Given the description of an element on the screen output the (x, y) to click on. 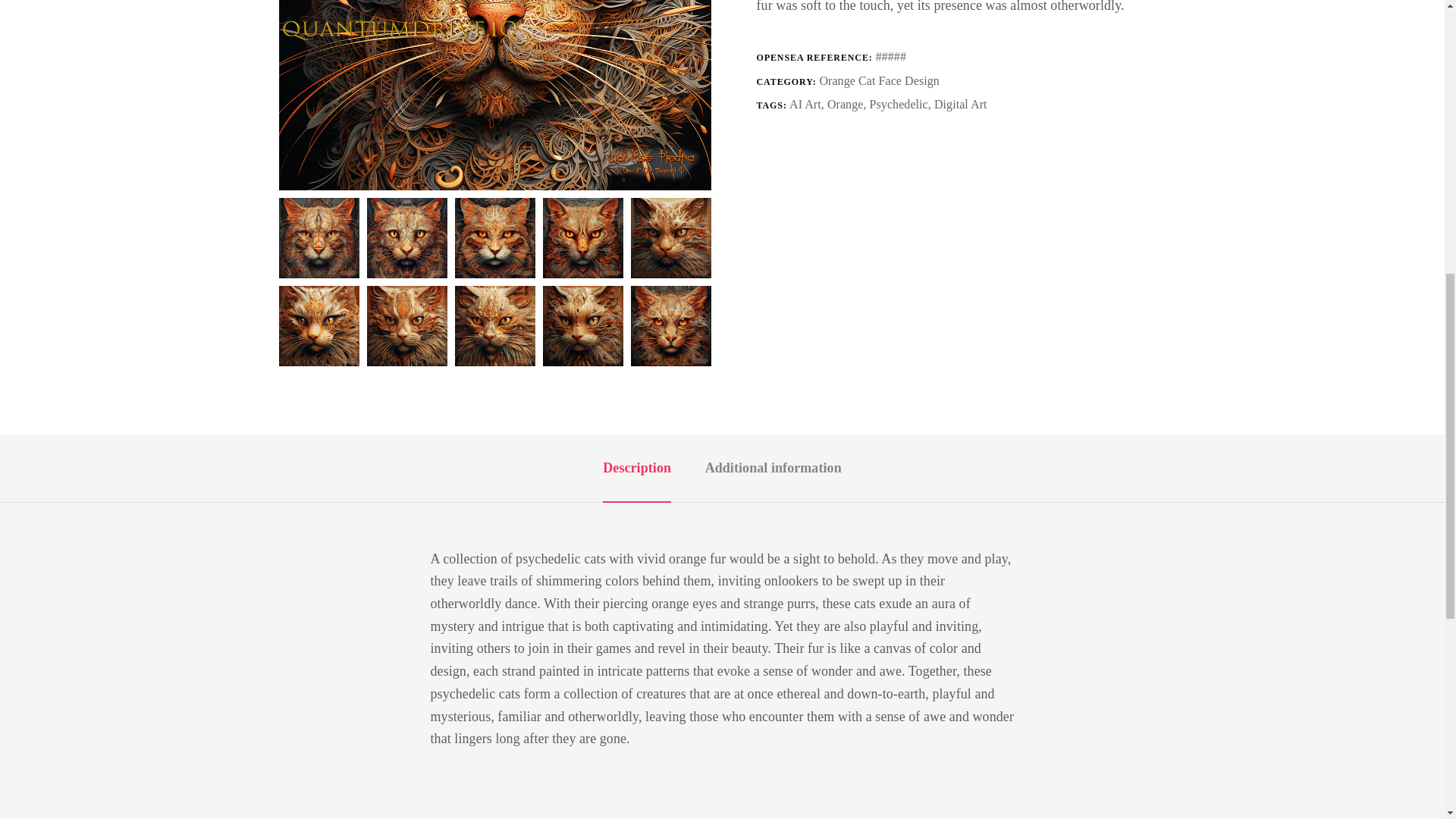
Description (636, 467)
Orange Cat Face Design (878, 80)
AI Art, (808, 103)
Digital Art (960, 103)
Additional information (772, 467)
Psychedelic, (901, 103)
Orange, (848, 103)
